Given the description of an element on the screen output the (x, y) to click on. 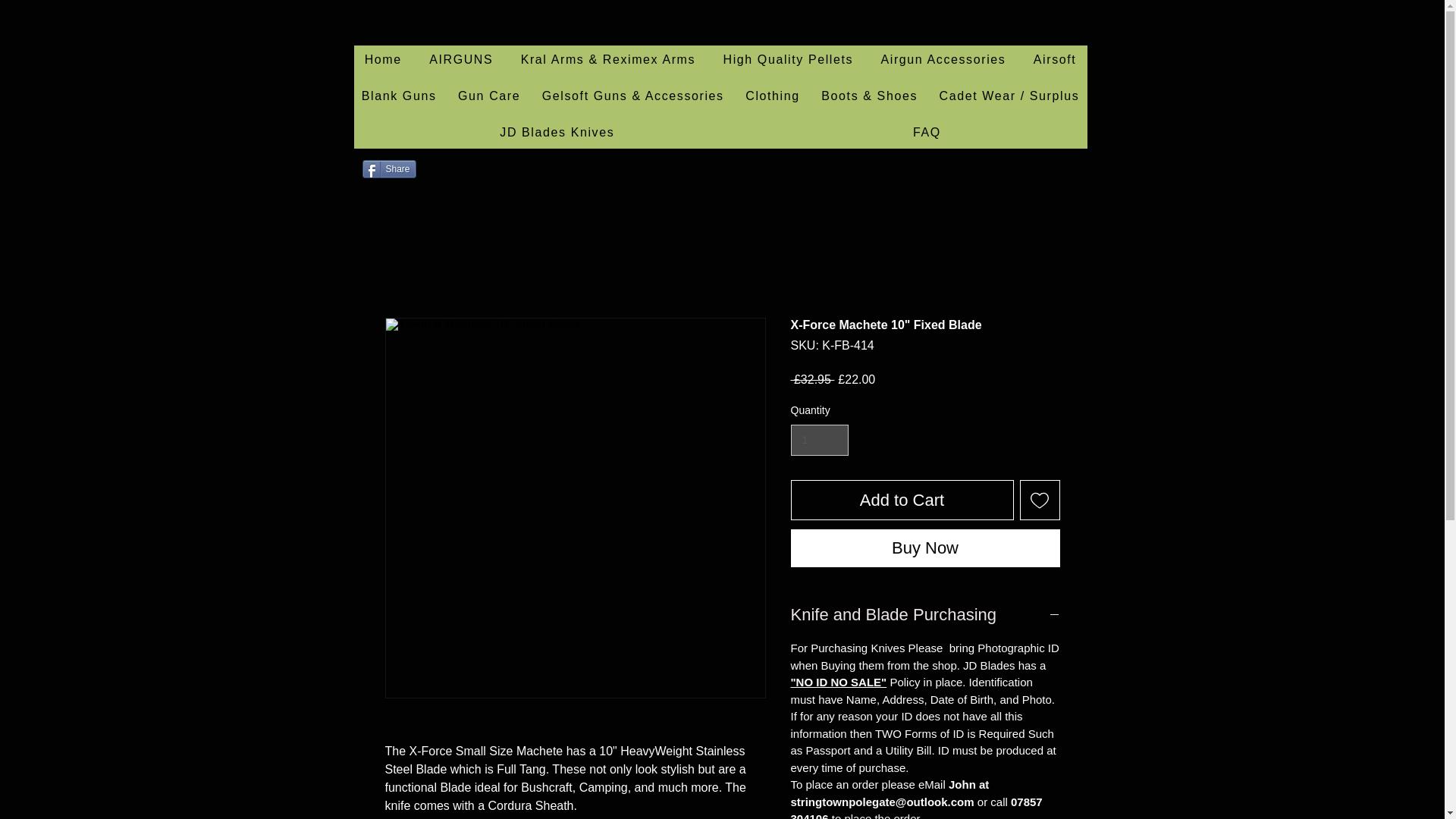
Share (389, 168)
Clothing (773, 96)
AIRGUNS (461, 60)
Blank Guns (398, 96)
Gun Care (488, 96)
Add to Cart (901, 499)
Knife and Blade Purchasing (924, 615)
1 (818, 440)
Share (389, 168)
Home (382, 60)
